Given the description of an element on the screen output the (x, y) to click on. 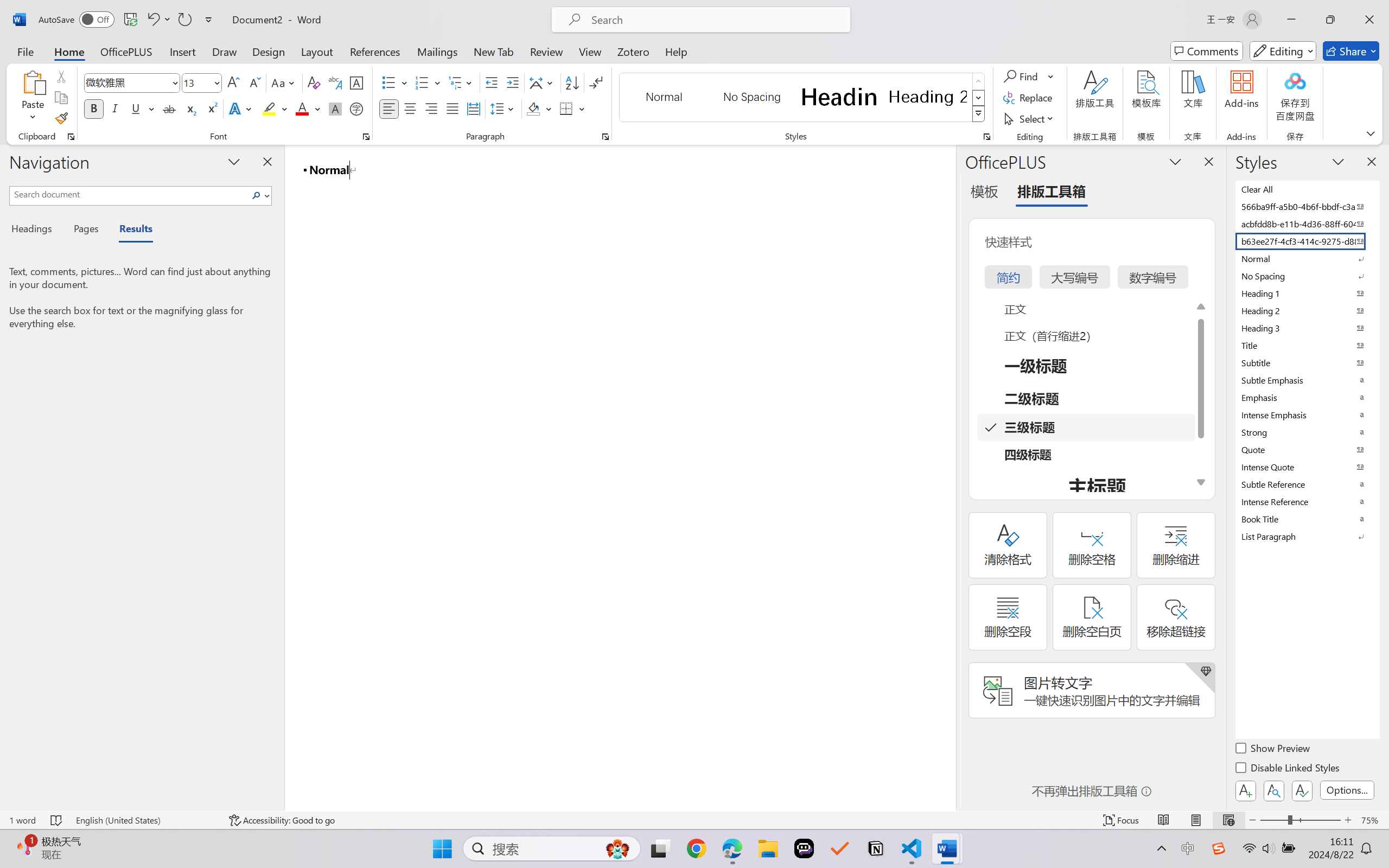
Distributed (473, 108)
Increase Indent (512, 82)
